Given the description of an element on the screen output the (x, y) to click on. 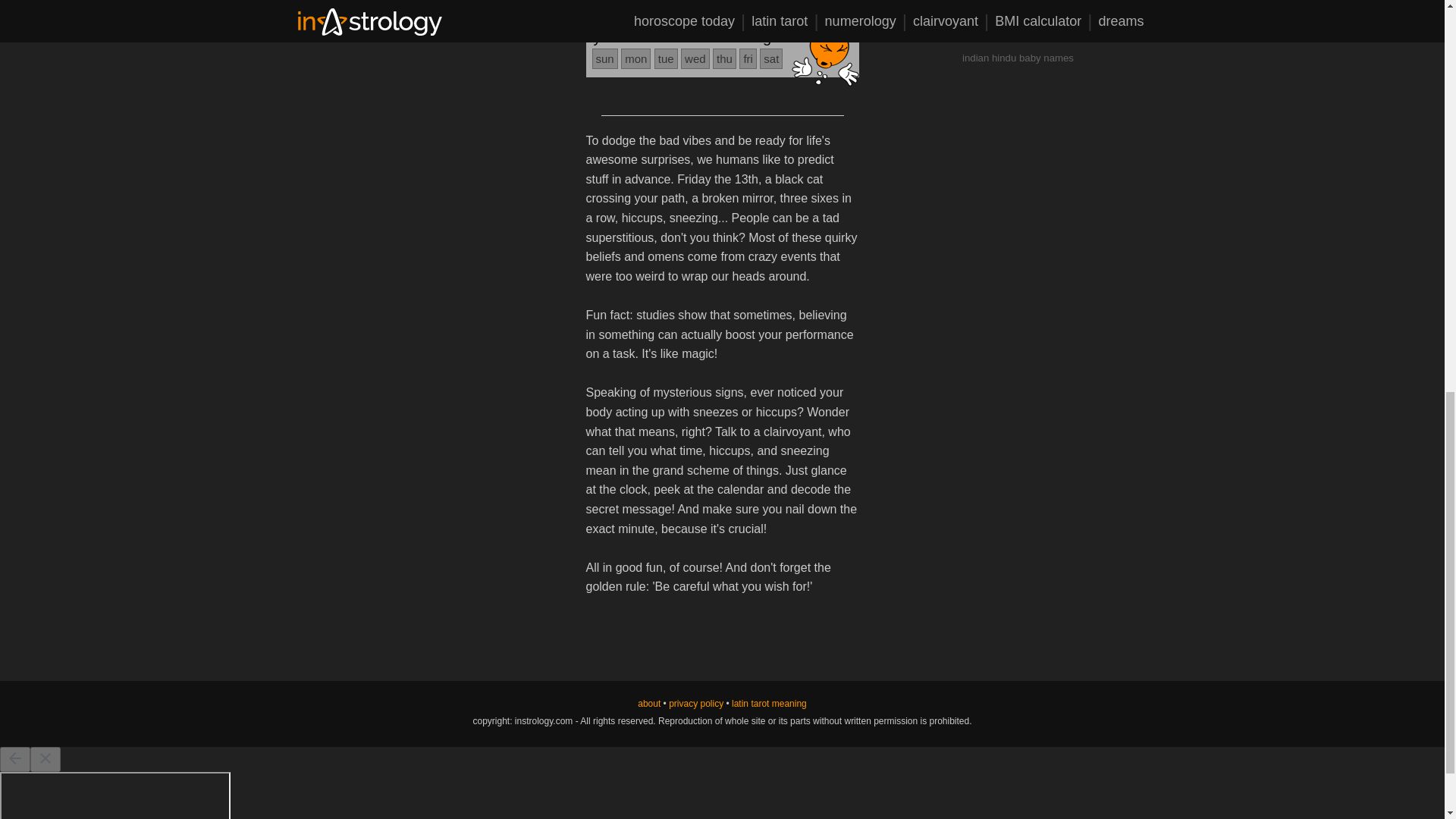
thu (724, 58)
tue (665, 6)
wed (695, 6)
thu (724, 6)
mon (635, 58)
sat (771, 58)
fri (748, 6)
sat (771, 6)
wed (695, 58)
sun (604, 58)
mon (635, 6)
sun (604, 6)
tue (665, 58)
